Given the description of an element on the screen output the (x, y) to click on. 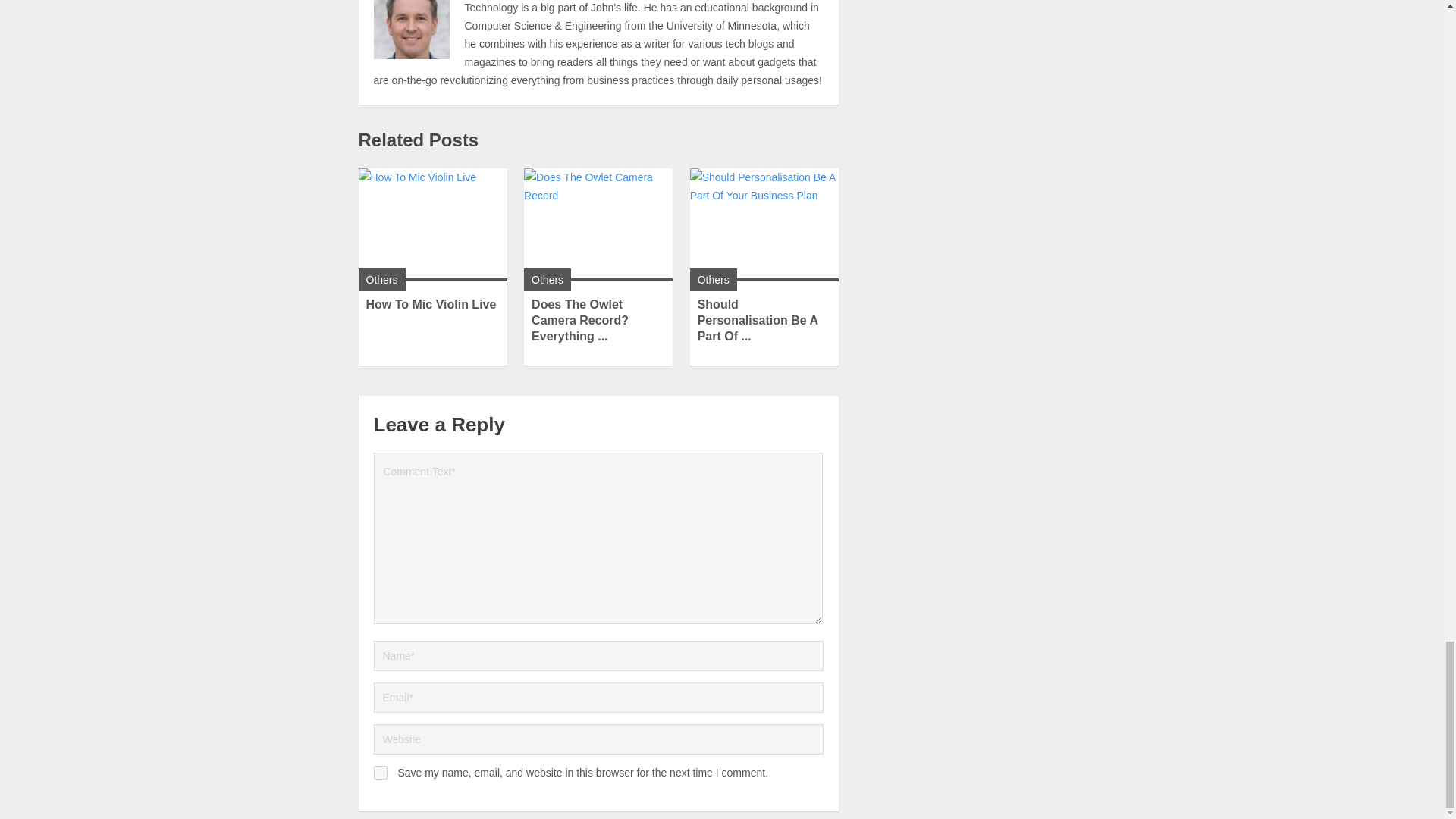
View all posts in Others (381, 279)
Should Personalisation Be A Part Of Your Business Plan? (757, 320)
yes (379, 772)
Others (547, 279)
View all posts in Others (713, 279)
Does The Owlet Camera Record? Everything ... (579, 320)
View all posts in Others (547, 279)
Does The Owlet Camera Record? Everything You Need To Know (579, 320)
Others (713, 279)
Should Personalisation Be A Part Of Your Business Plan? (764, 224)
